Given the description of an element on the screen output the (x, y) to click on. 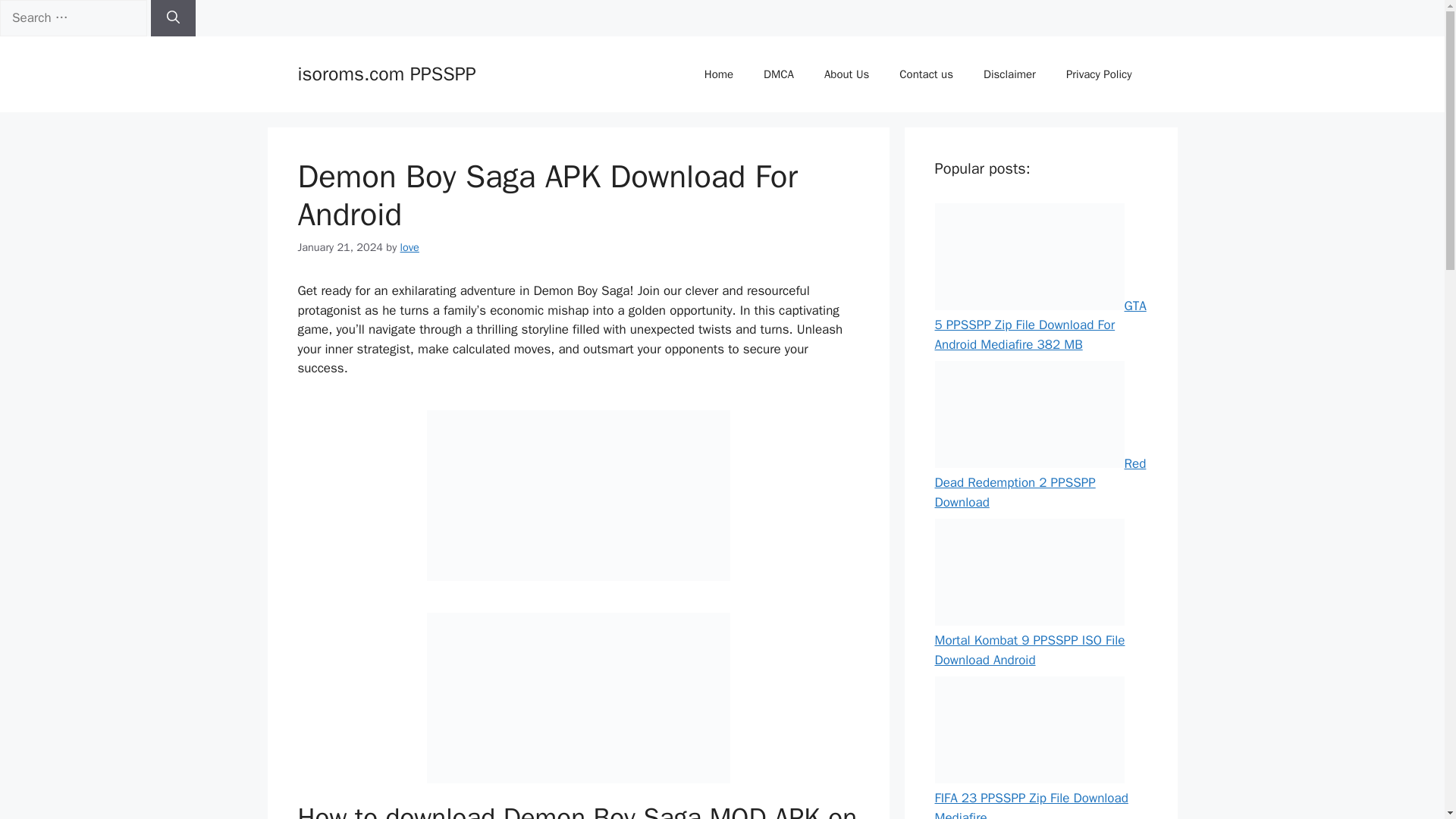
Red Dead Redemption 2 PPSSPP Download (1039, 482)
FIFA 23 PPSSPP Zip File Download Mediafire (1030, 804)
Contact us (925, 74)
GTA 5 PPSSPP Zip File Download For Android Mediafire 382 MB (1029, 256)
Red Dead Redemption 2 PPSSPP Download (1029, 414)
DMCA (778, 74)
love (409, 246)
isoroms.com PPSSPP (386, 73)
Mortal Kombat 9 PPSSPP ISO File Download Android (1029, 571)
Privacy Policy (1099, 74)
FIFA 23 PPSSPP Zip File Download Mediafire (1029, 729)
Mortal Kombat 9 PPSSPP ISO File Download Android (1029, 650)
GTA 5 PPSSPP Zip File Download For Android Mediafire 382 MB (1039, 324)
Disclaimer (1009, 74)
Home (718, 74)
